Given the description of an element on the screen output the (x, y) to click on. 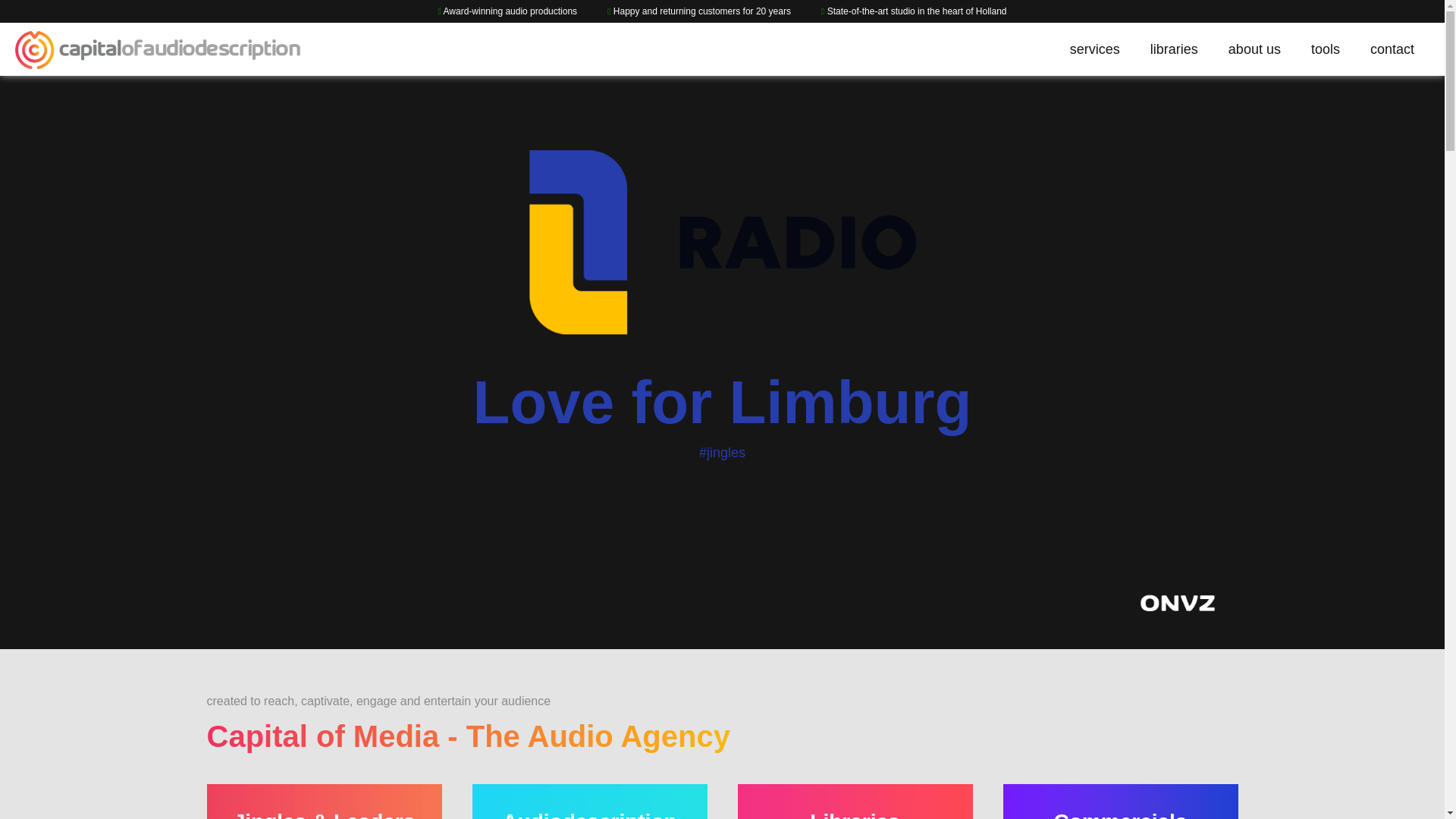
about us (1253, 49)
libraries (1173, 49)
services (1094, 49)
tools (1325, 49)
contact (1392, 49)
